Given the description of an element on the screen output the (x, y) to click on. 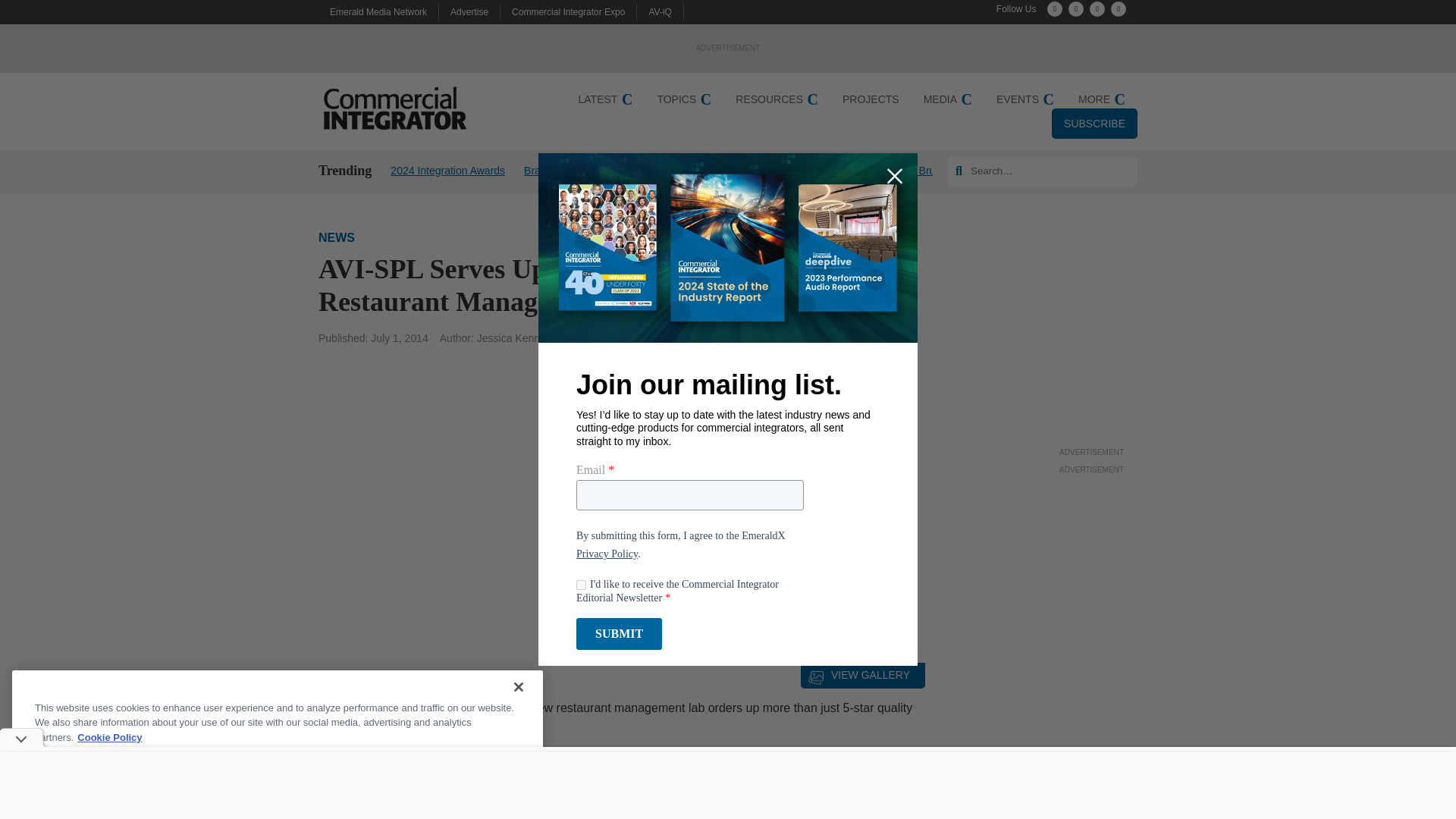
TOPICS (683, 99)
Follow on Youtube (1117, 8)
Commercial Integrator Expo (568, 11)
Emerald Media Network (378, 11)
Advertise (468, 11)
Follow on X (1054, 8)
LATEST (605, 99)
Follow on Facebook (1075, 8)
Follow on LinkedIn (1097, 8)
RESOURCES (776, 99)
3rd party ad content (1091, 348)
AV-iQ (659, 11)
